Given the description of an element on the screen output the (x, y) to click on. 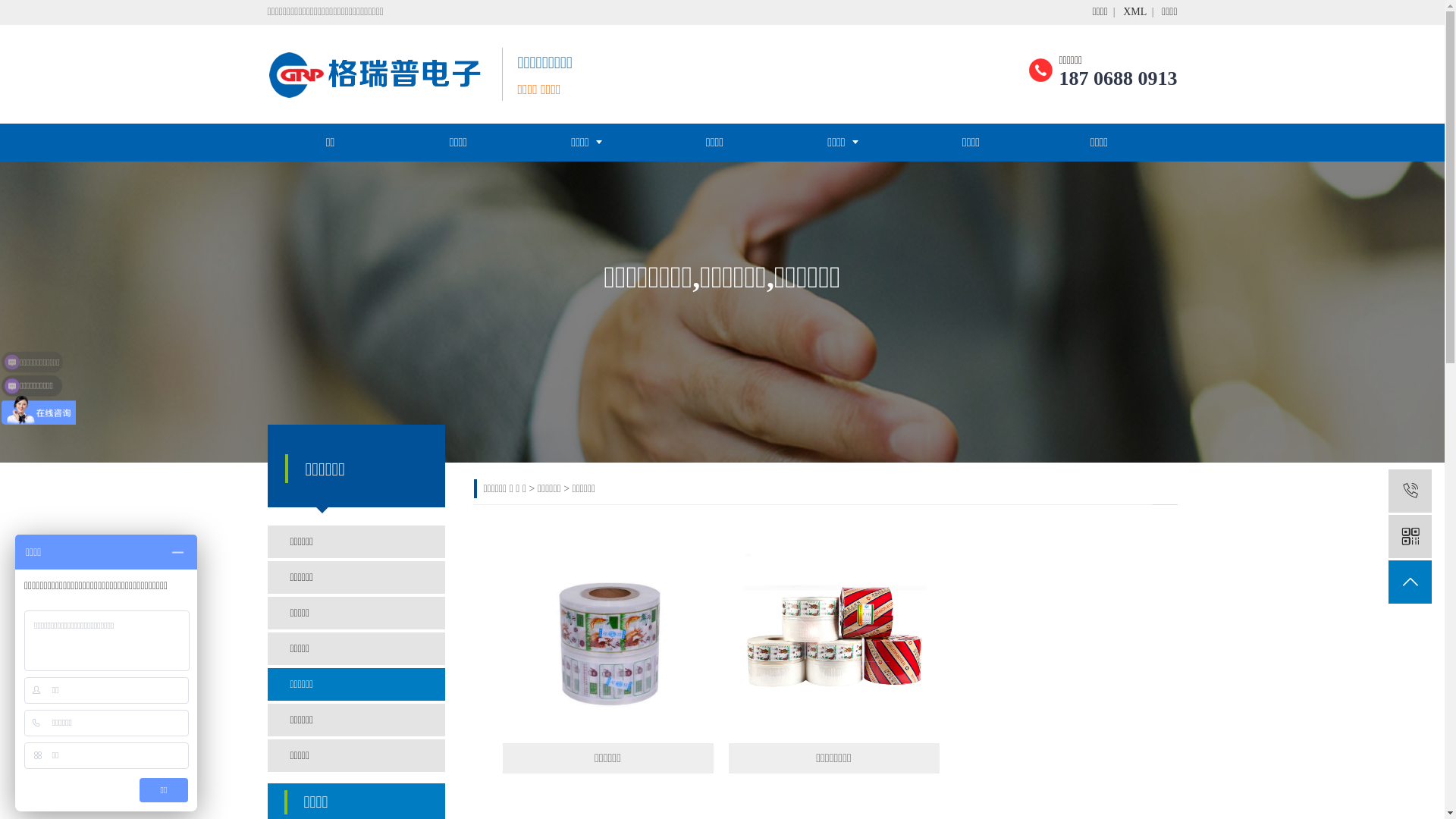
XML Element type: text (1134, 11)
